Given the description of an element on the screen output the (x, y) to click on. 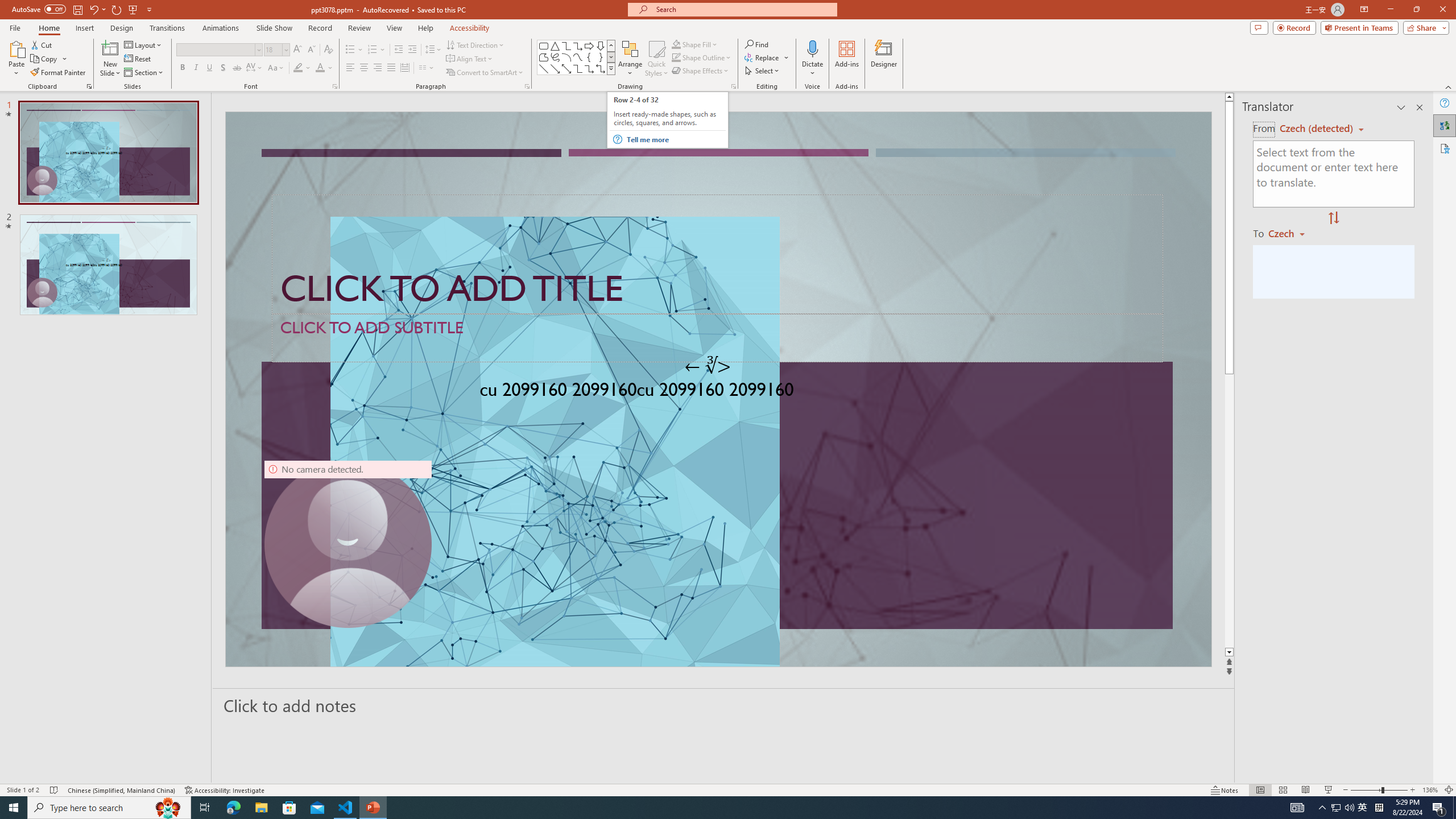
Text Direction (476, 44)
Align Left (349, 67)
Change Case (276, 67)
Czech (1291, 232)
Line Spacing (433, 49)
Increase Indent (412, 49)
